Given the description of an element on the screen output the (x, y) to click on. 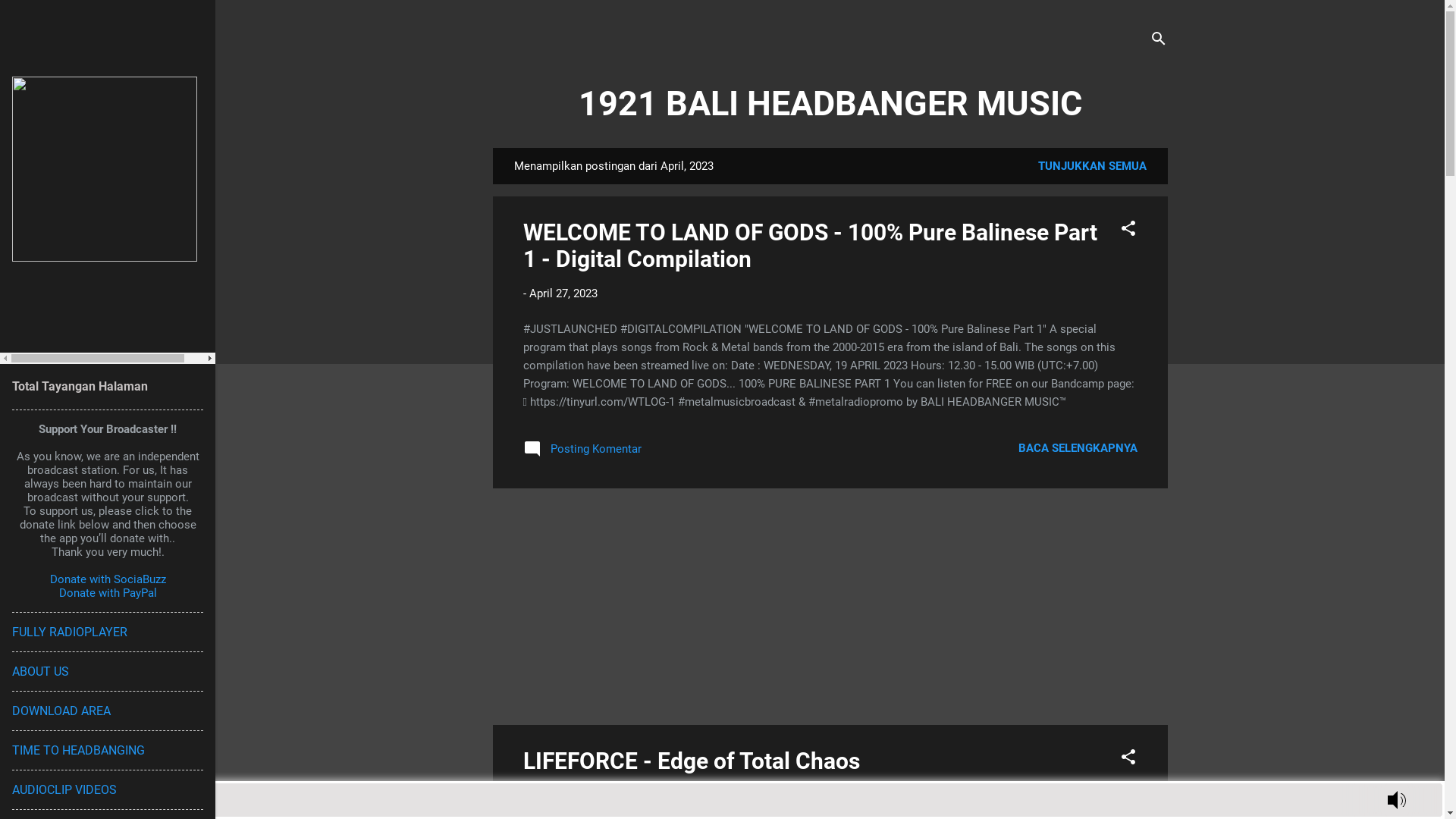
BACA SELENGKAPNYA Element type: text (1076, 448)
April 24, 2023 Element type: text (563, 795)
Donate with PayPal Element type: text (107, 592)
LIFEFORCE - Edge of Total Chaos Element type: text (691, 760)
TIME TO HEADBANGING Element type: text (78, 750)
Telusuri Element type: text (31, 18)
Listen live Element type: hover (15, 799)
Advertisement Element type: hover (829, 606)
FULLY RADIOPLAYER Element type: text (69, 631)
Donate with SociaBuzz Element type: text (108, 579)
DOWNLOAD AREA Element type: text (61, 710)
April 27, 2023 Element type: text (563, 293)
AUDIOCLIP VIDEOS Element type: text (64, 789)
Posting Komentar Element type: text (582, 454)
1921 BALI HEADBANGER MUSIC Element type: text (829, 103)
Steaming now... Element type: text (720, 795)
TUNJUKKAN SEMUA Element type: text (1091, 165)
ABOUT US Element type: text (40, 671)
